Given the description of an element on the screen output the (x, y) to click on. 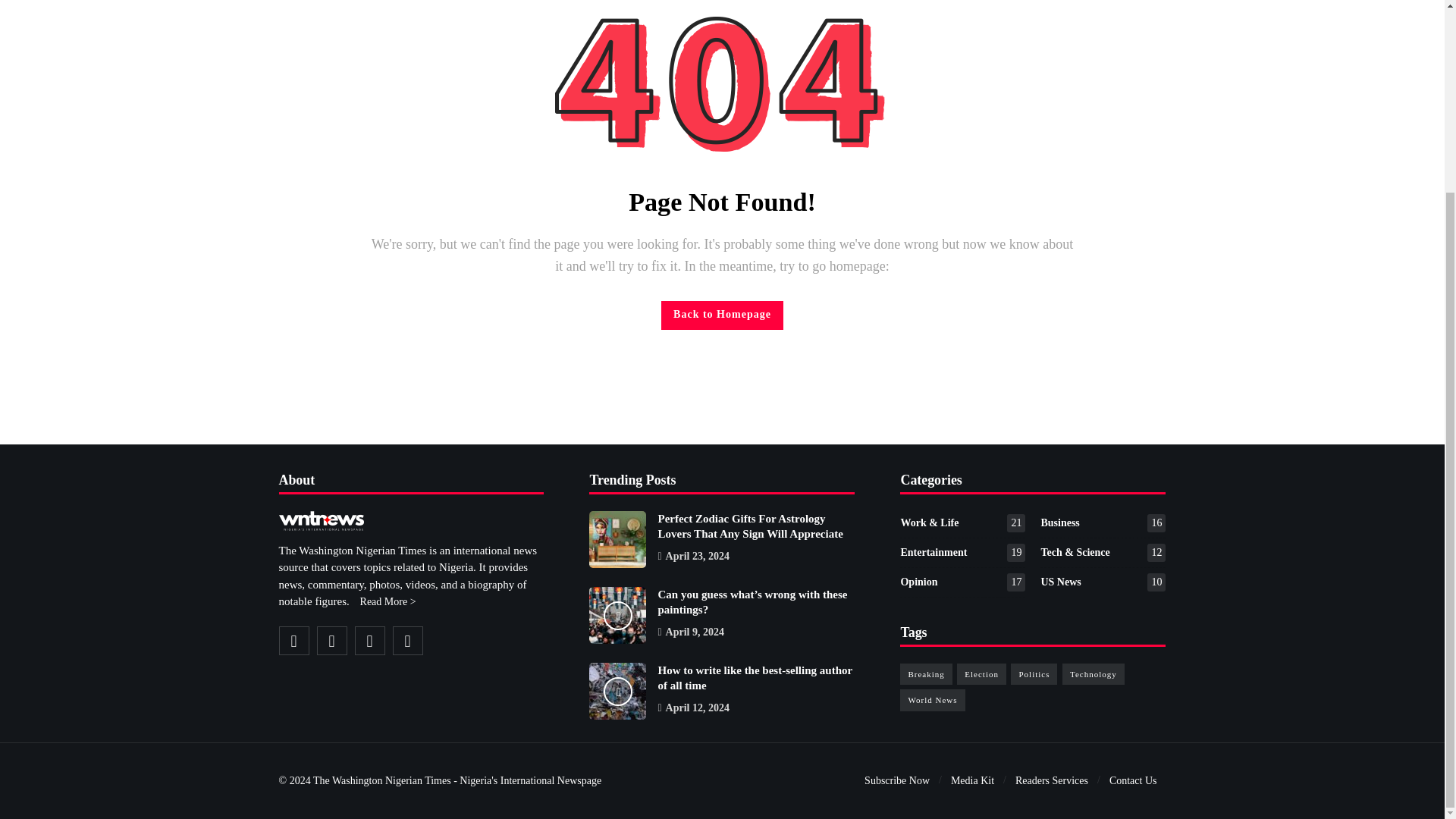
How to write like the best-selling author of all time (617, 690)
Nigeria's International Newspage (382, 780)
How to write like the best-selling author of all time (754, 677)
